Given the description of an element on the screen output the (x, y) to click on. 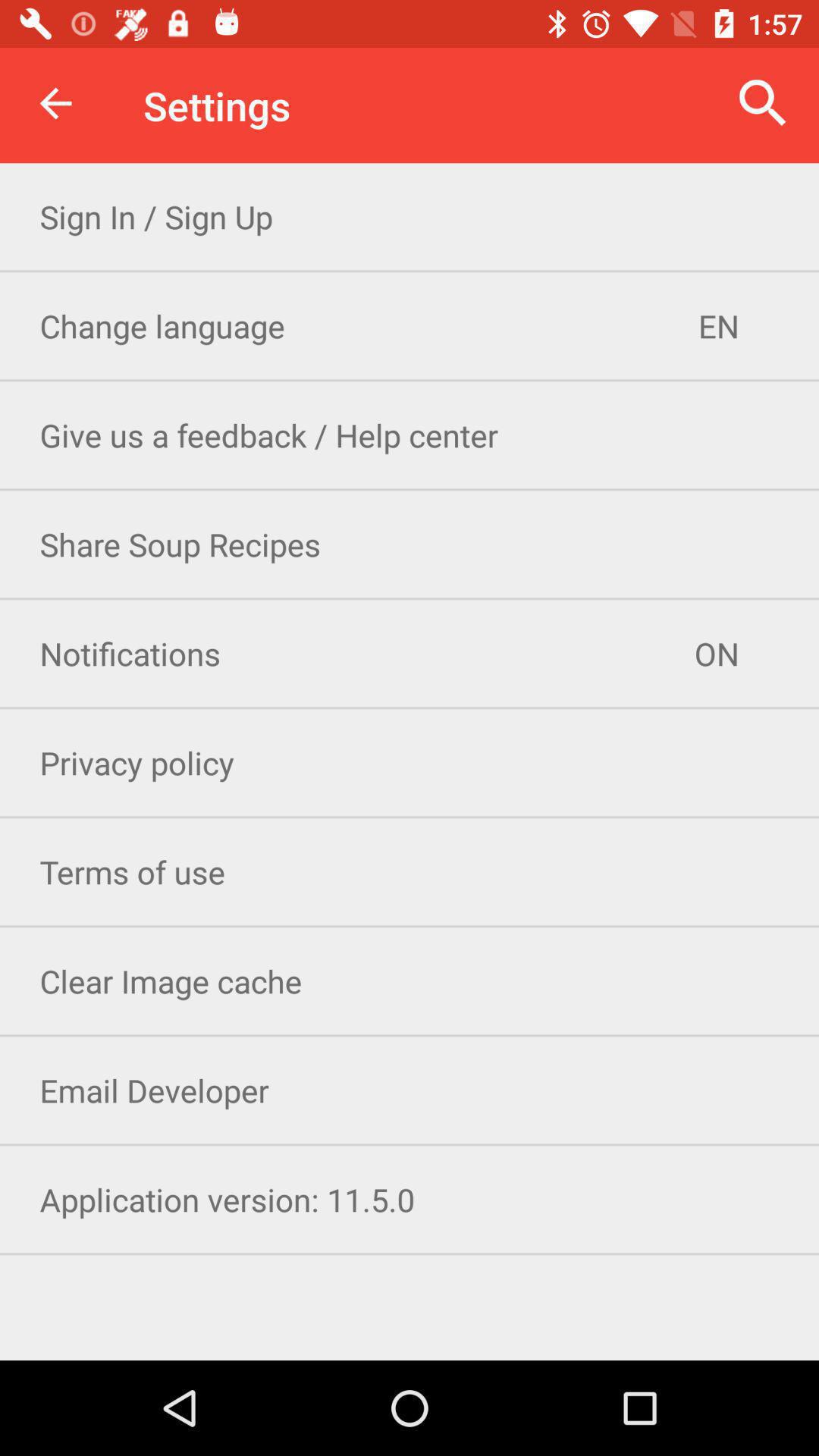
select the privacy policy icon (409, 762)
